Given the description of an element on the screen output the (x, y) to click on. 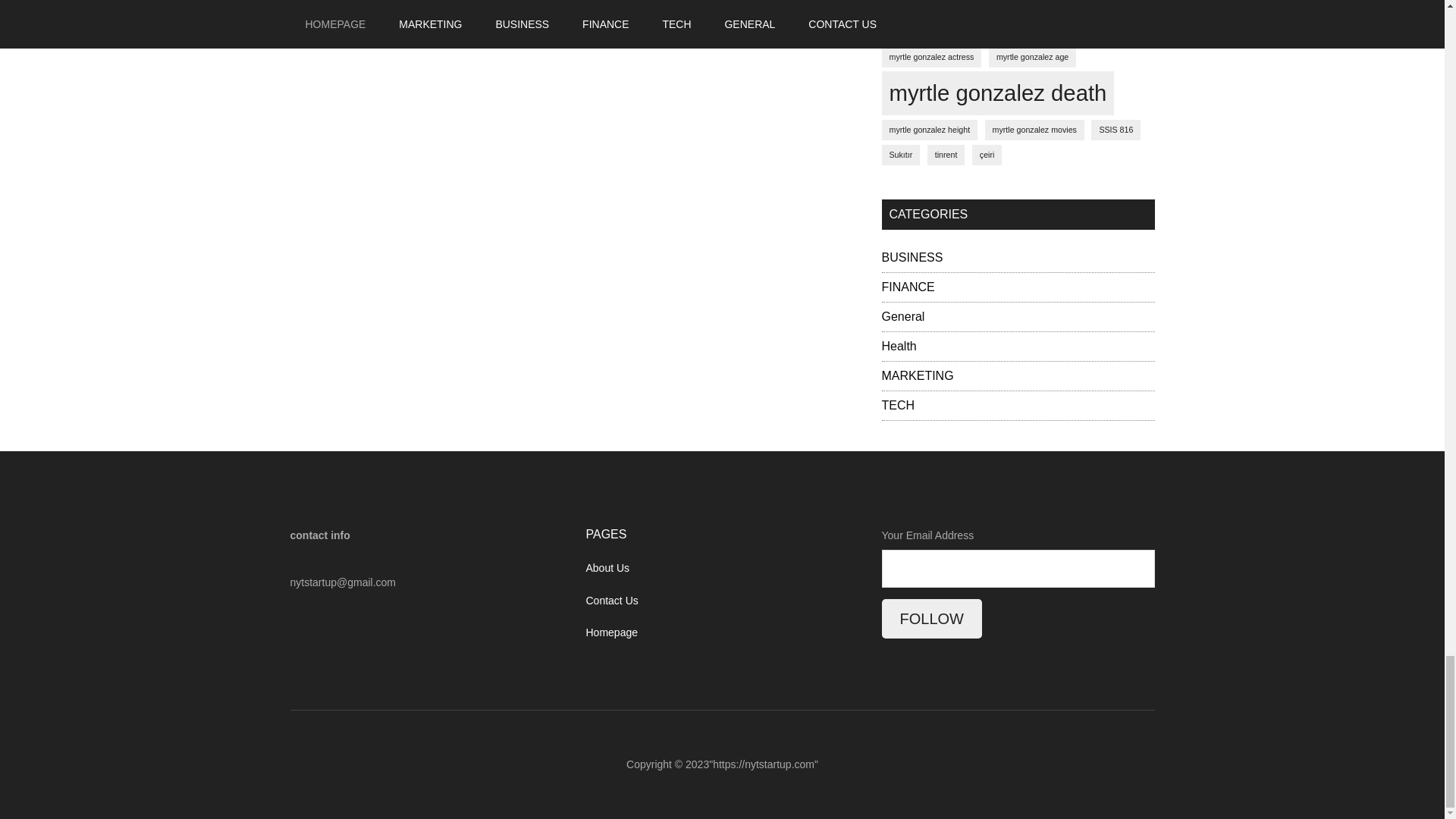
FOLLOW (930, 618)
